Given the description of an element on the screen output the (x, y) to click on. 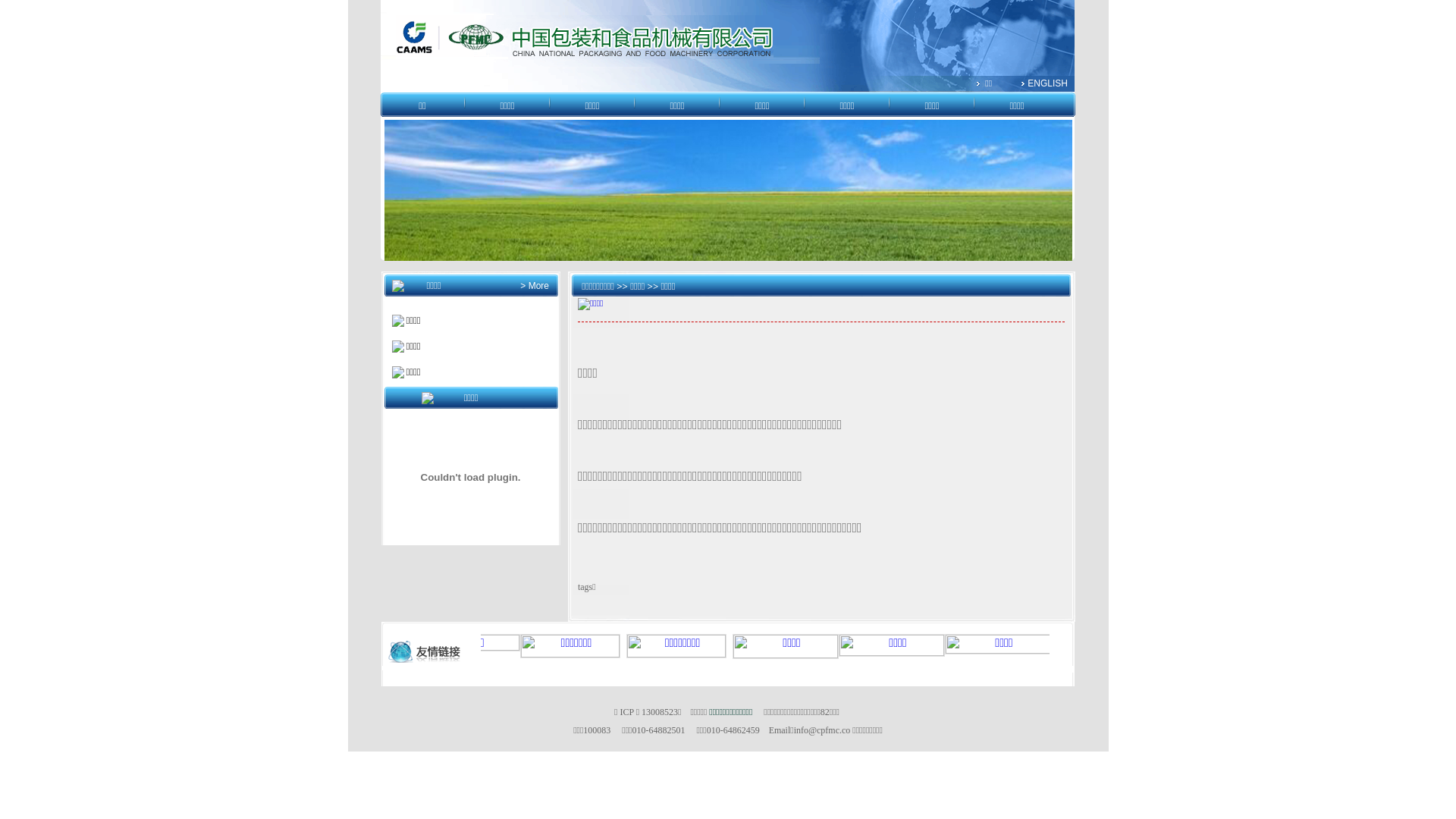
ENGLISH Element type: text (1047, 83)
 More Element type: text (537, 285)
